Given the description of an element on the screen output the (x, y) to click on. 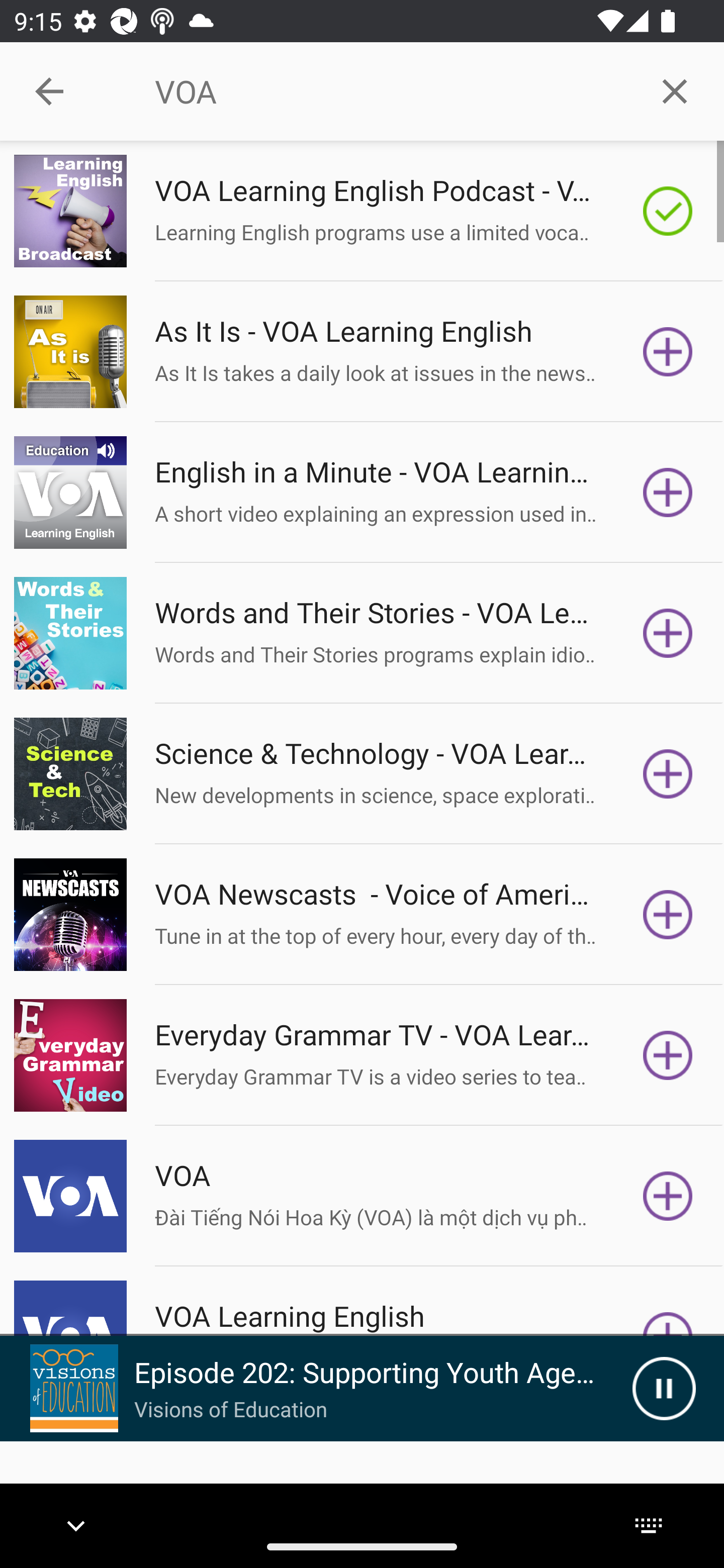
Collapse (49, 91)
Clear query (674, 90)
VOA (389, 91)
Subscribed (667, 211)
Subscribe (667, 350)
Subscribe (667, 491)
Subscribe (667, 633)
Subscribe (667, 773)
Subscribe (667, 913)
Subscribe (667, 1054)
Subscribe (667, 1195)
Pause (663, 1388)
